Given the description of an element on the screen output the (x, y) to click on. 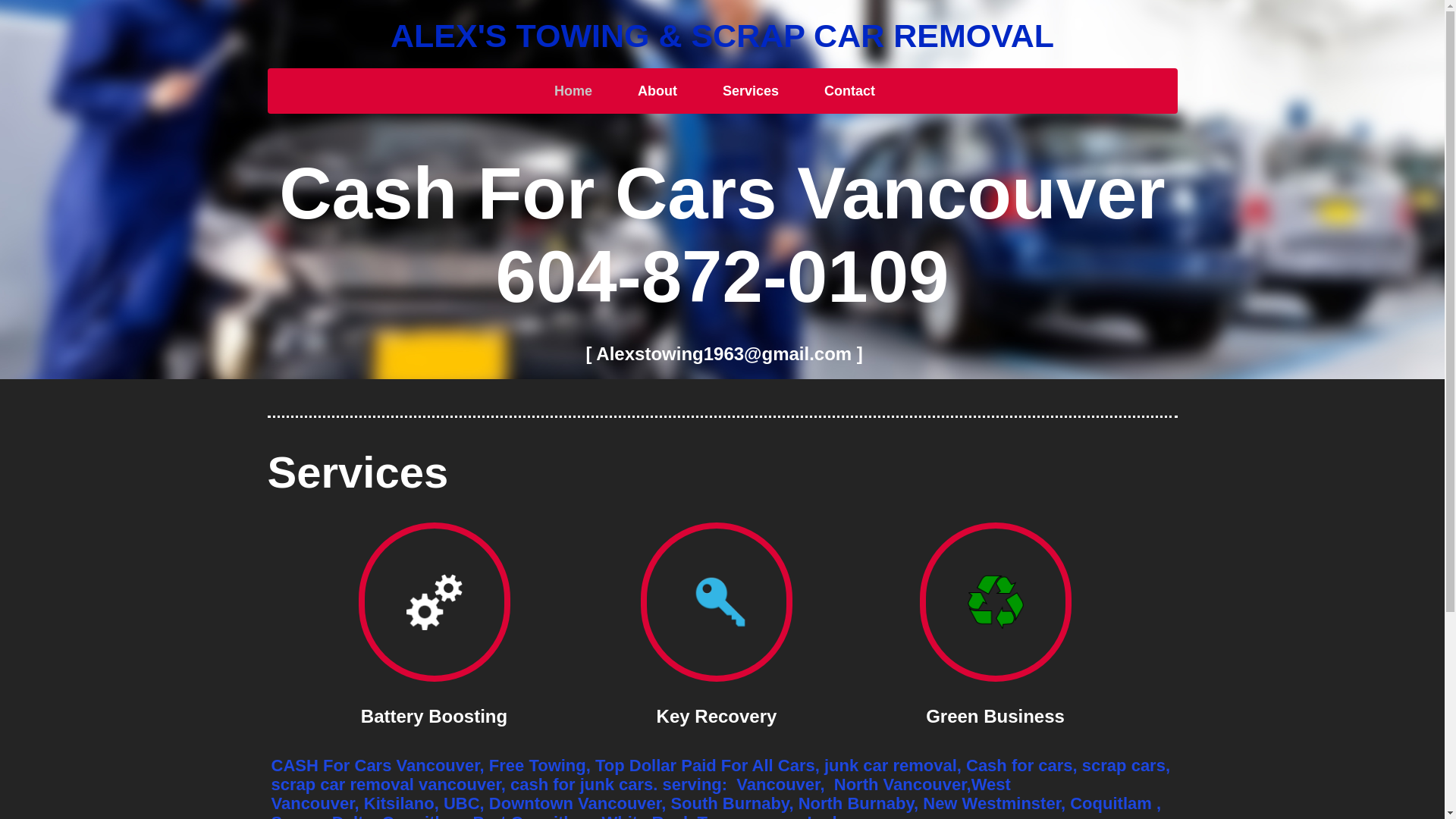
Services Element type: text (357, 471)
Services Element type: text (750, 90)
fix battery vancouver Element type: hover (434, 602)
locked out of car service vancouver Element type: hover (720, 602)
Contact Element type: text (849, 90)
best towing service vancouver Element type: hover (995, 602)
About Element type: text (657, 90)
Home Element type: text (573, 90)
